Given the description of an element on the screen output the (x, y) to click on. 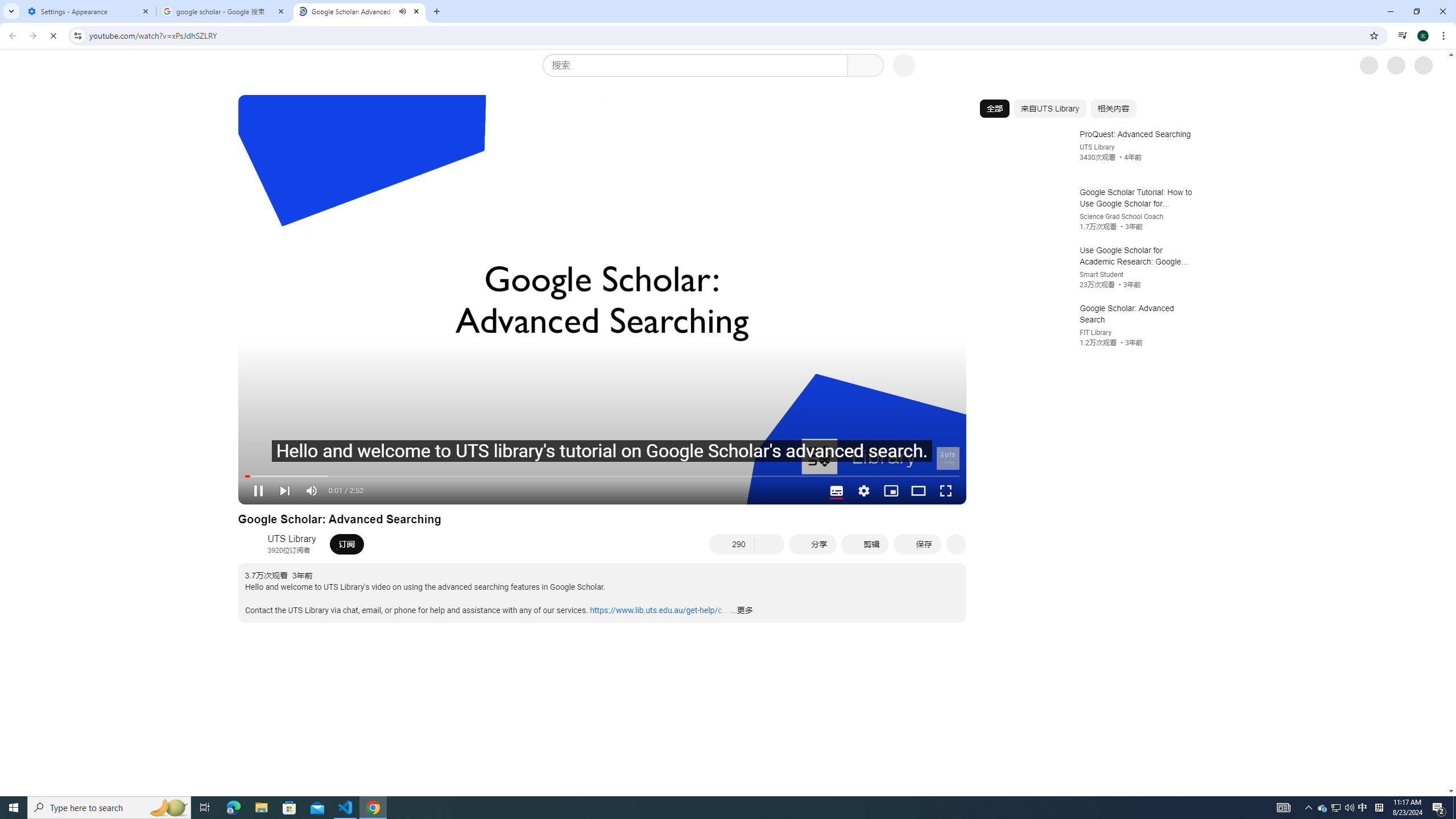
Google Scholar: Advanced Searching - YouTube - Audio playing (359, 11)
Settings - Appearance (88, 11)
